Given the description of an element on the screen output the (x, y) to click on. 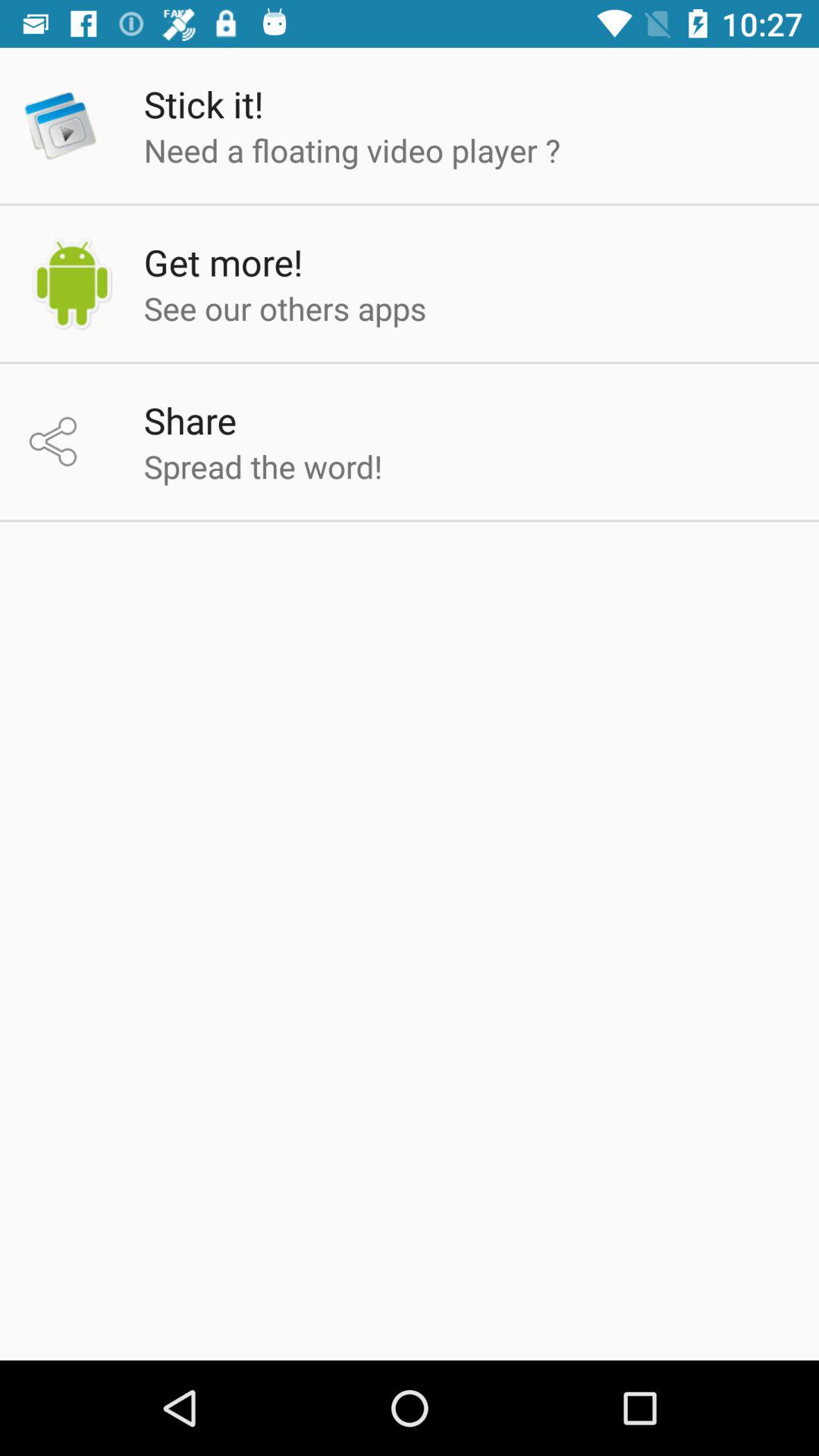
tap the icon below see our others icon (189, 419)
